Given the description of an element on the screen output the (x, y) to click on. 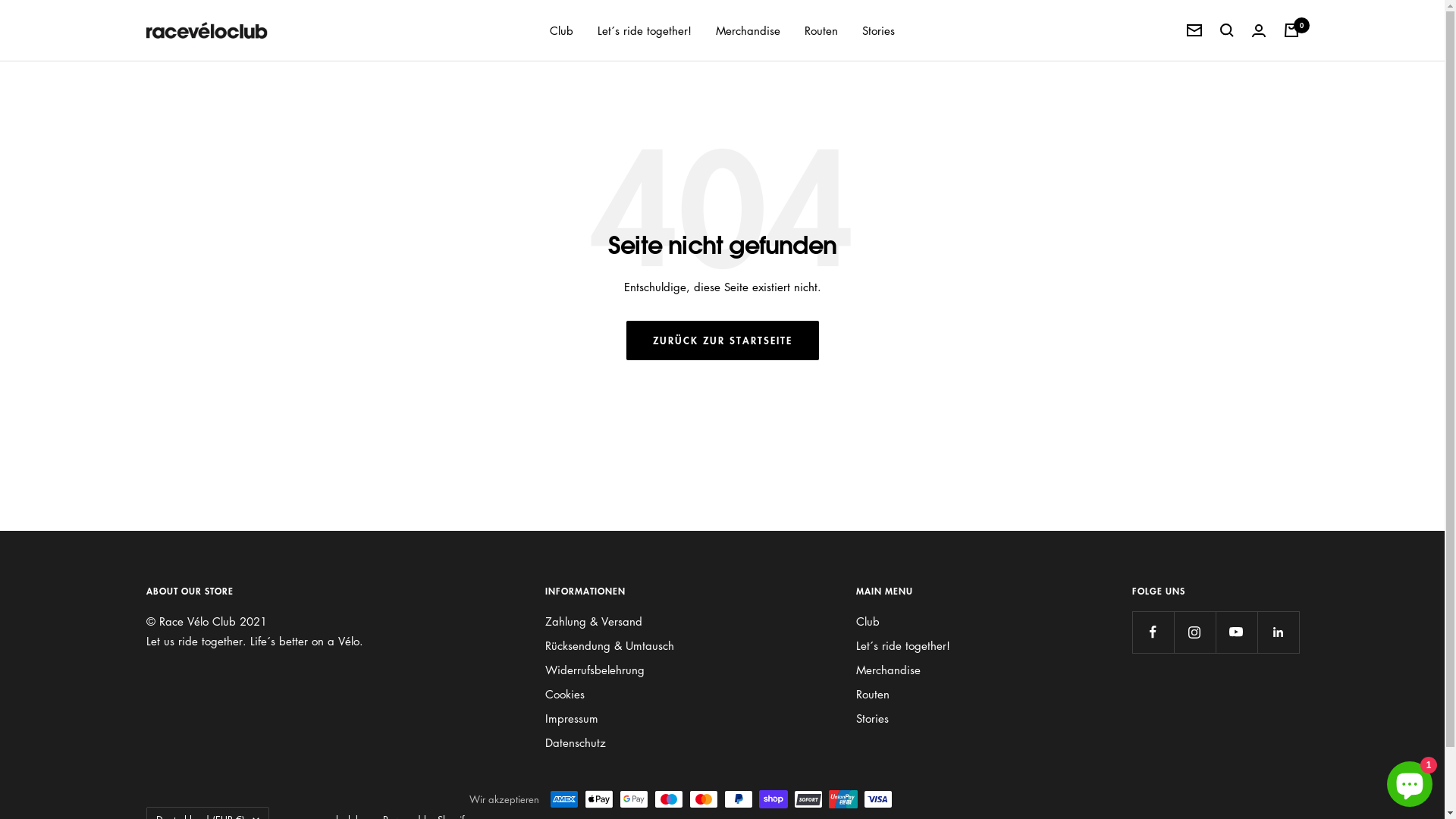
DK Element type: text (212, 544)
Datenschutz Element type: text (574, 742)
BE Element type: text (212, 506)
MT Element type: text (212, 771)
Club Element type: text (866, 620)
Routen Element type: text (820, 30)
AT Element type: text (212, 809)
Routen Element type: text (871, 693)
Merchandise Element type: text (887, 669)
Onlineshop-Chat von Shopify Element type: hover (1409, 780)
IT Element type: text (212, 677)
Merchandise Element type: text (747, 30)
Widerrufsbelehrung Element type: text (593, 669)
GR Element type: text (212, 639)
IE Element type: text (212, 658)
Impressum Element type: text (570, 718)
HR Element type: text (212, 695)
Stories Element type: text (871, 718)
Zahlung & Versand Element type: text (592, 620)
0 Element type: text (1290, 30)
LU Element type: text (212, 752)
DE Element type: text (212, 563)
Newsletter Element type: text (1193, 30)
Stories Element type: text (878, 30)
EE Element type: text (212, 582)
Club Element type: text (561, 30)
raceveloclub Element type: text (205, 30)
Cookies Element type: text (563, 693)
BG Element type: text (212, 525)
LV Element type: text (212, 714)
LT Element type: text (212, 733)
NL Element type: text (212, 790)
FR Element type: text (212, 620)
FI Element type: text (212, 601)
